Given the description of an element on the screen output the (x, y) to click on. 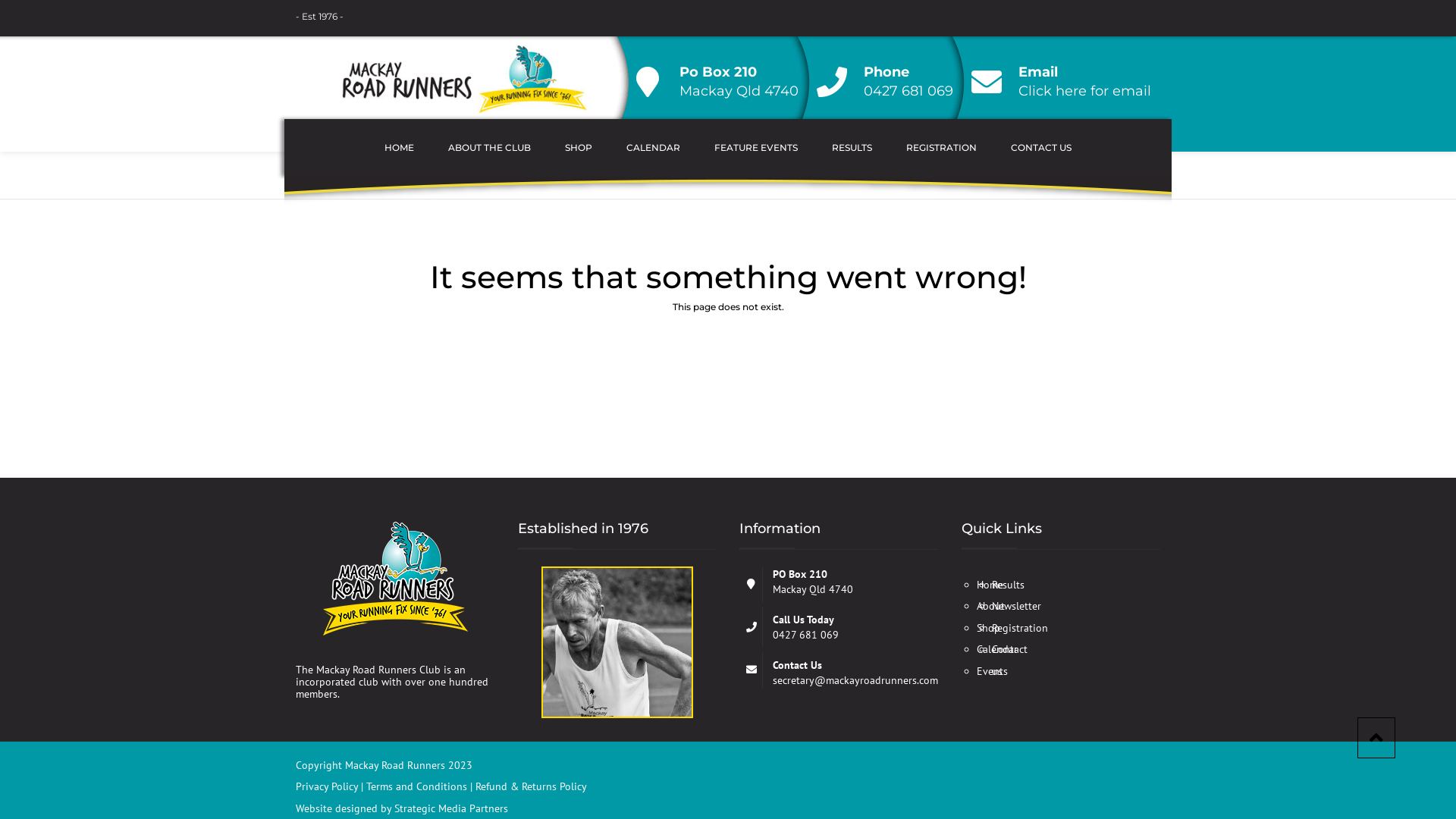
RESULTS Element type: text (851, 147)
About Element type: text (990, 605)
0427 681 069 Element type: text (805, 634)
CONTACT US Element type: text (1040, 147)
secretary@mackayroadrunners.com Element type: text (855, 680)
Calendar Element type: text (996, 648)
Newsletter Element type: text (1016, 605)
Home Element type: text (310, 174)
Registration Element type: text (1019, 626)
Click here for email Element type: text (1084, 90)
Home Element type: text (989, 584)
Events Element type: text (991, 670)
HOME Element type: text (398, 147)
ABOUT THE CLUB Element type: text (489, 147)
REGISTRATION Element type: text (941, 147)
CALENDAR Element type: text (653, 147)
FEATURE EVENTS Element type: text (755, 147)
Contact us Element type: text (1009, 659)
Privacy Policy Element type: text (327, 786)
0427 681 069 Element type: text (908, 90)
Shop Element type: text (988, 626)
Website designed Element type: text (336, 807)
SHOP Element type: text (578, 147)
Scroll to top Element type: hover (1376, 737)
Terms and Conditions Element type: text (418, 786)
Results Element type: text (1007, 584)
Refund & Returns Policy Element type: text (530, 786)
